Given the description of an element on the screen output the (x, y) to click on. 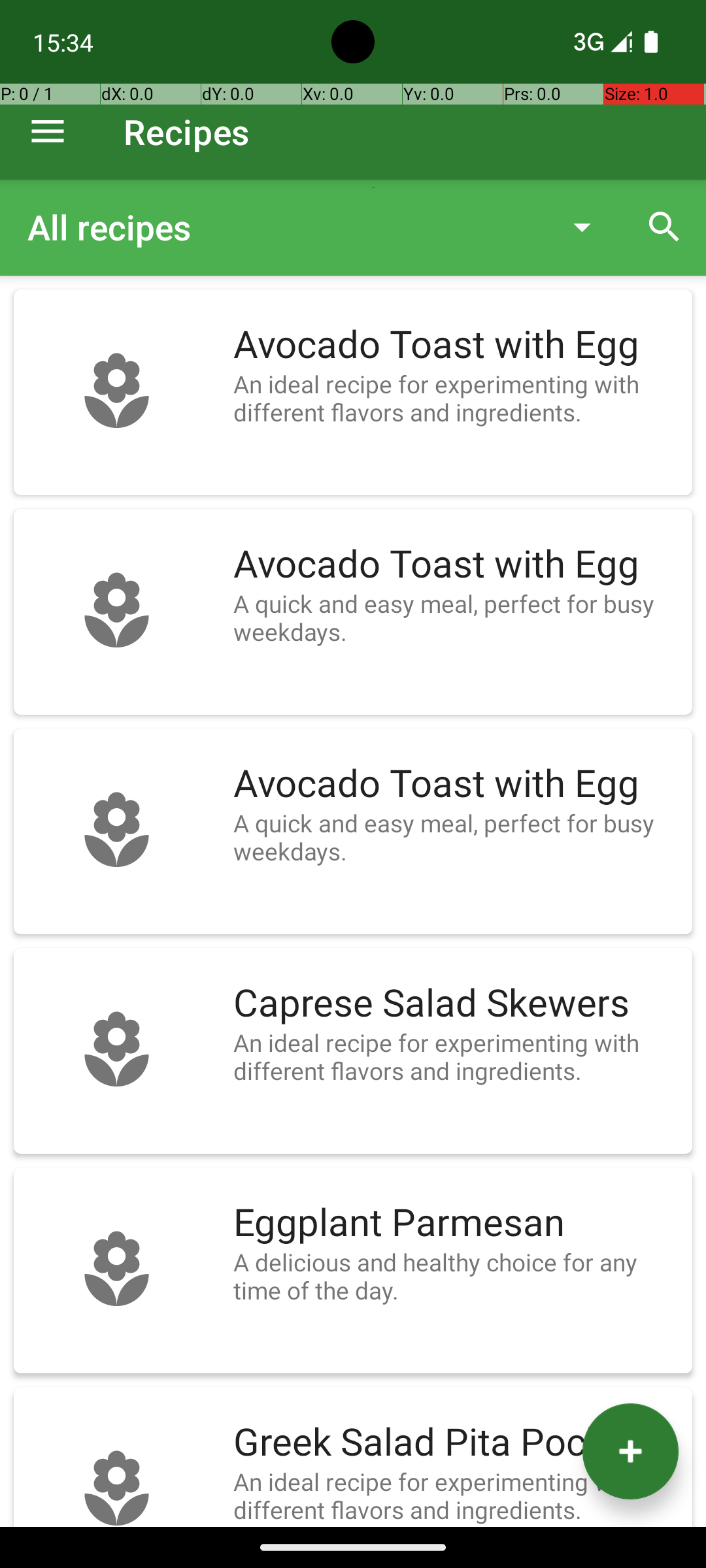
Greek Salad Pita Pockets Element type: android.widget.TextView (455, 1442)
